Given the description of an element on the screen output the (x, y) to click on. 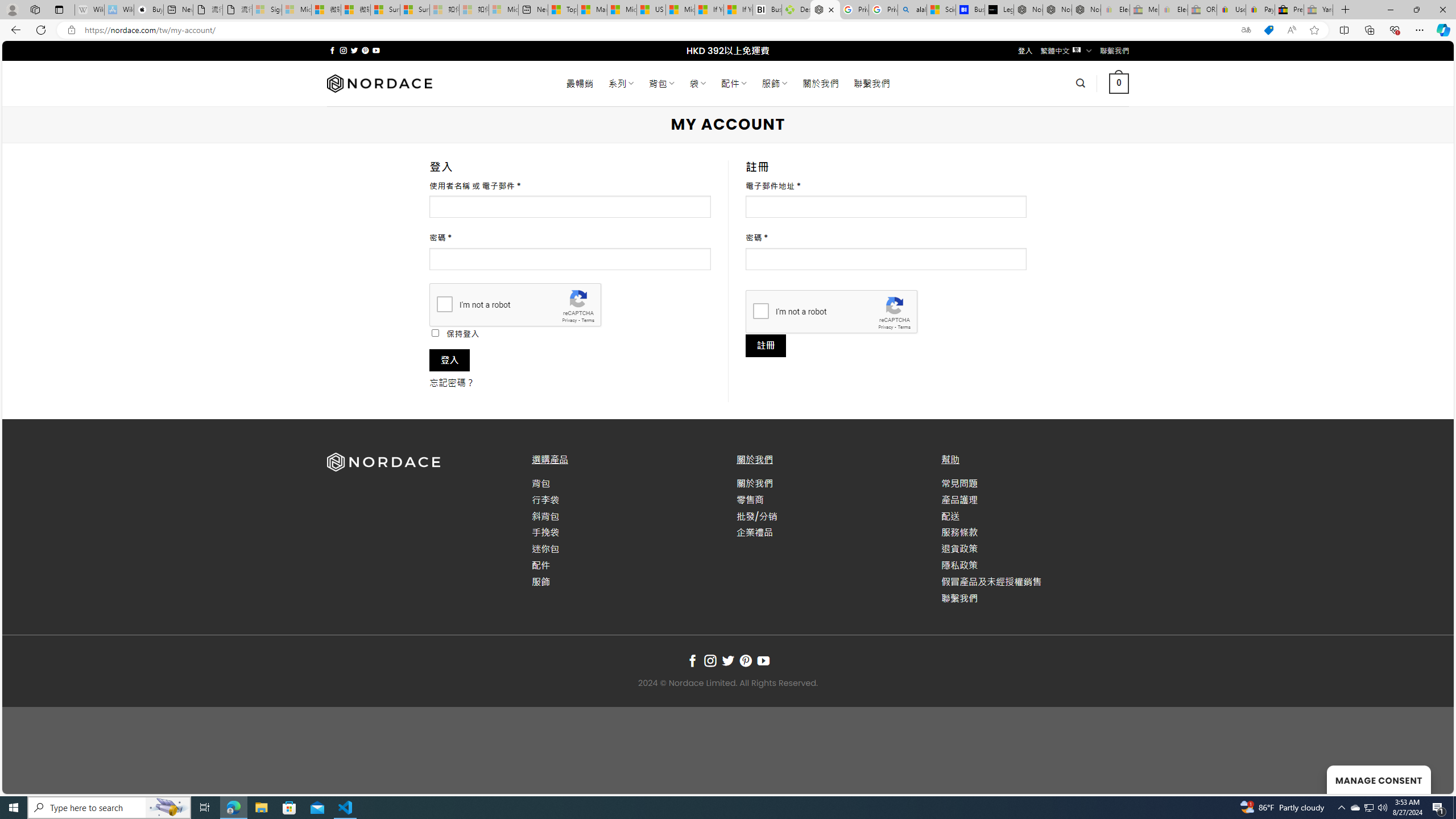
Sign in to your Microsoft account - Sleeping (266, 9)
Go to top (1430, 777)
